Given the description of an element on the screen output the (x, y) to click on. 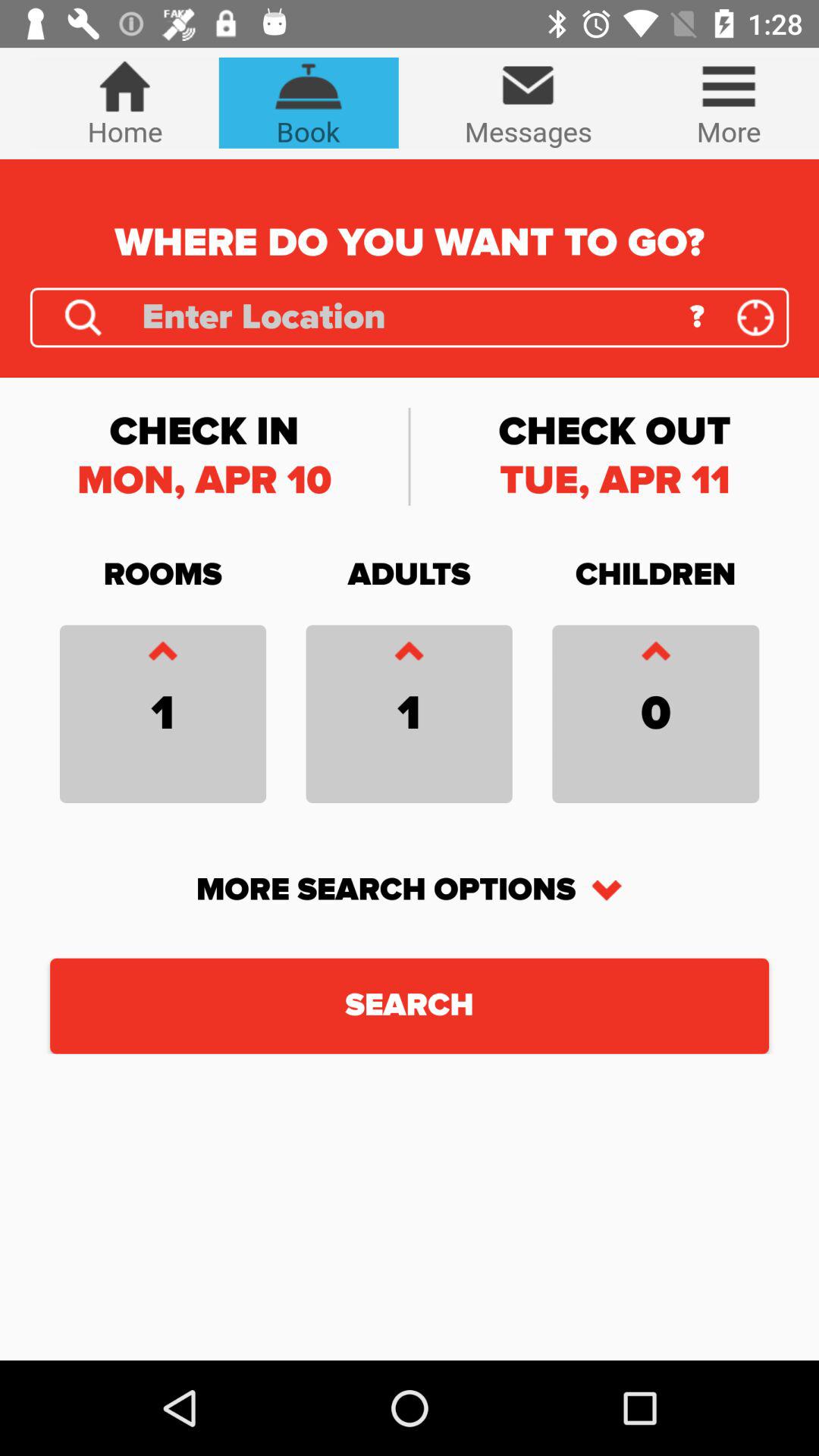
turn off icon to the left of book (124, 102)
